Given the description of an element on the screen output the (x, y) to click on. 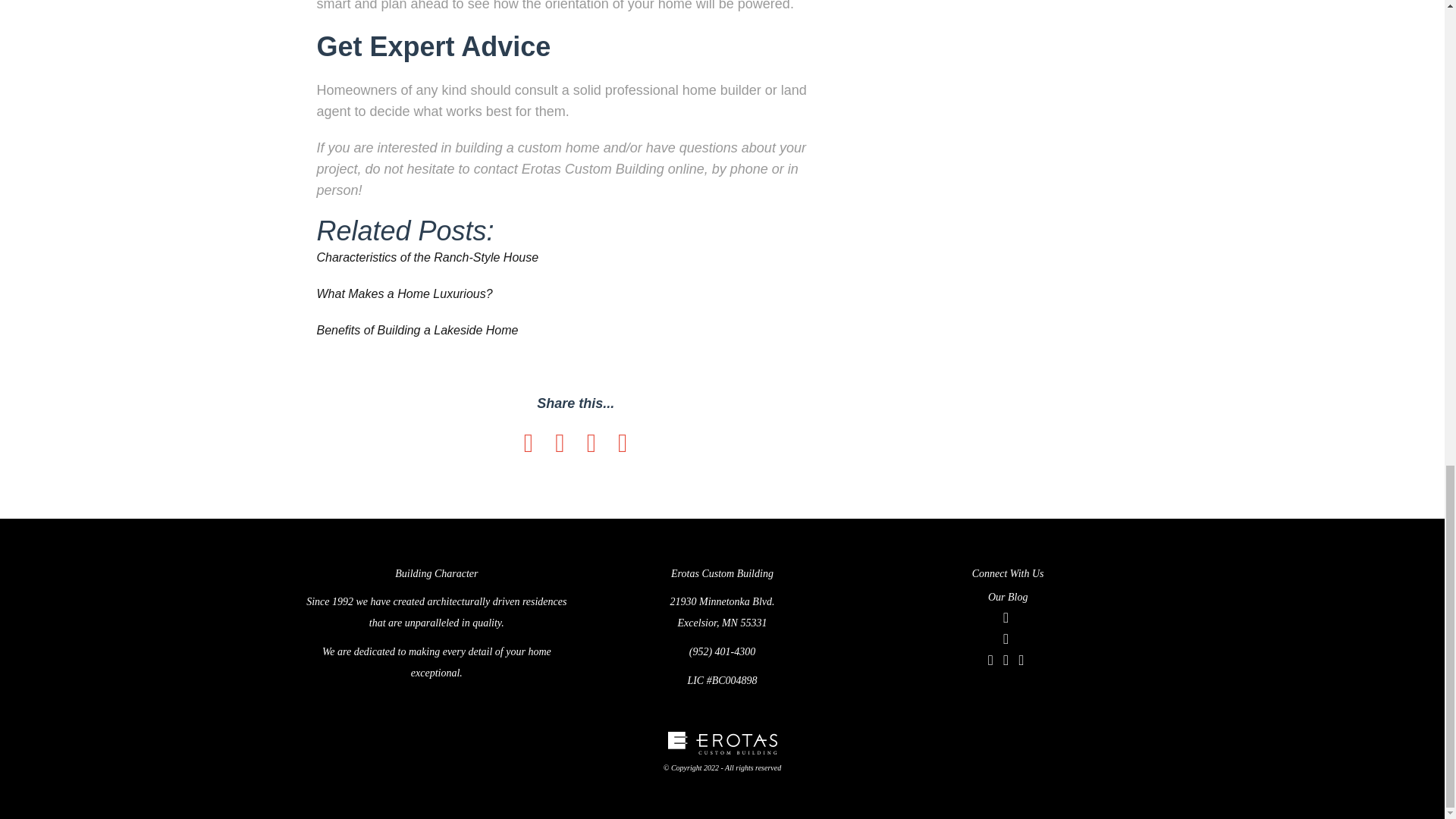
What Makes a Home Luxurious? (405, 293)
Benefits of Building a Lakeside Home (417, 329)
Share on LinkedIn (591, 442)
21930 Minnetonka Blvd. Excelsior, MN 55331 (721, 612)
Our Blog (1008, 597)
Share on Facebook. (528, 442)
Characteristics of the Ranch-Style House (427, 256)
